Given the description of an element on the screen output the (x, y) to click on. 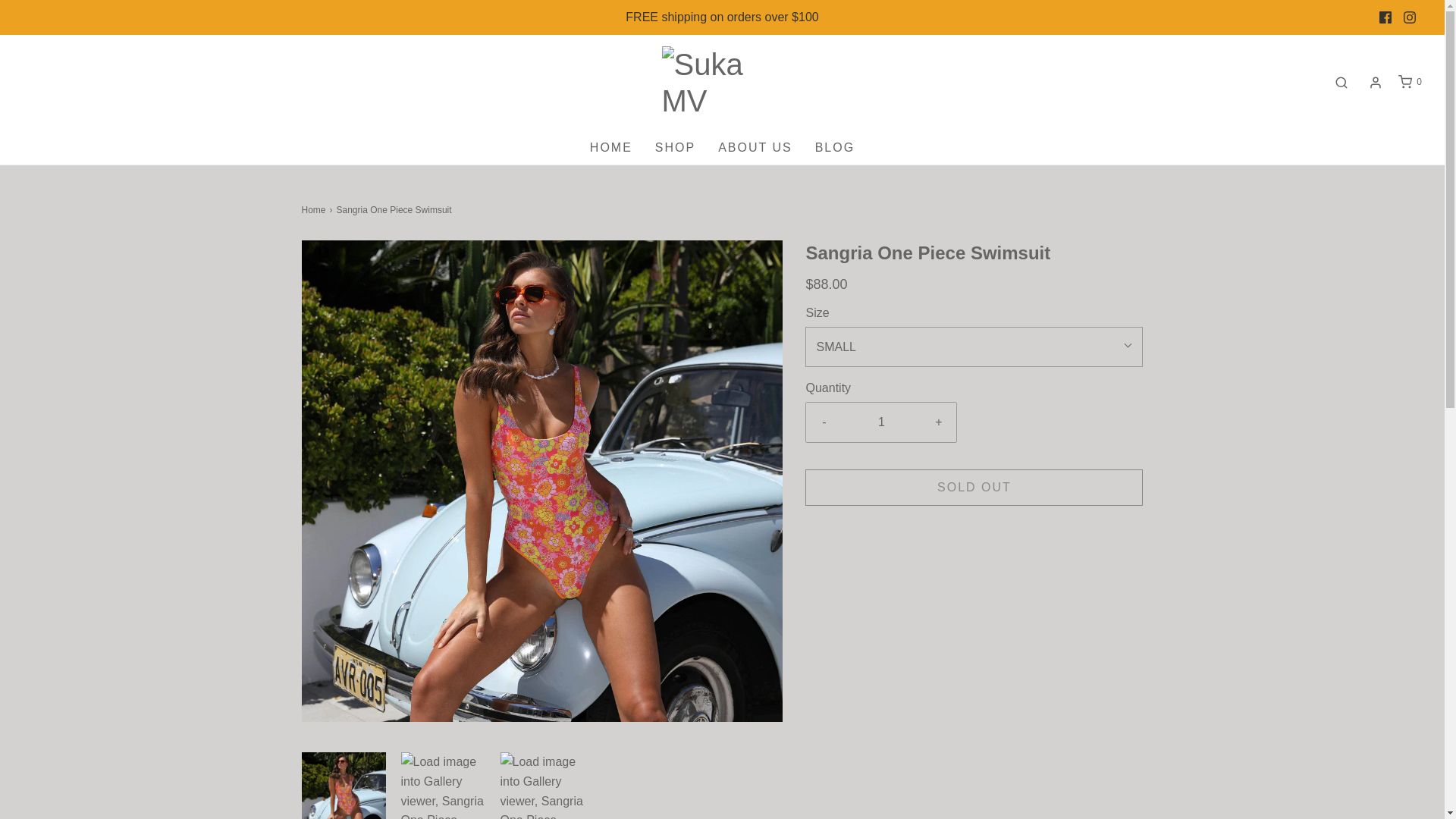
Facebook icon (1384, 17)
ABOUT US (754, 147)
Log in (1375, 82)
Instagram icon (1409, 16)
Search (1341, 82)
1 (881, 422)
Instagram icon (1409, 17)
HOME (610, 147)
0 (1409, 82)
BLOG (834, 147)
Cart (1409, 82)
Facebook icon (1385, 16)
Back to the frontpage (315, 210)
SHOP (675, 147)
